Given the description of an element on the screen output the (x, y) to click on. 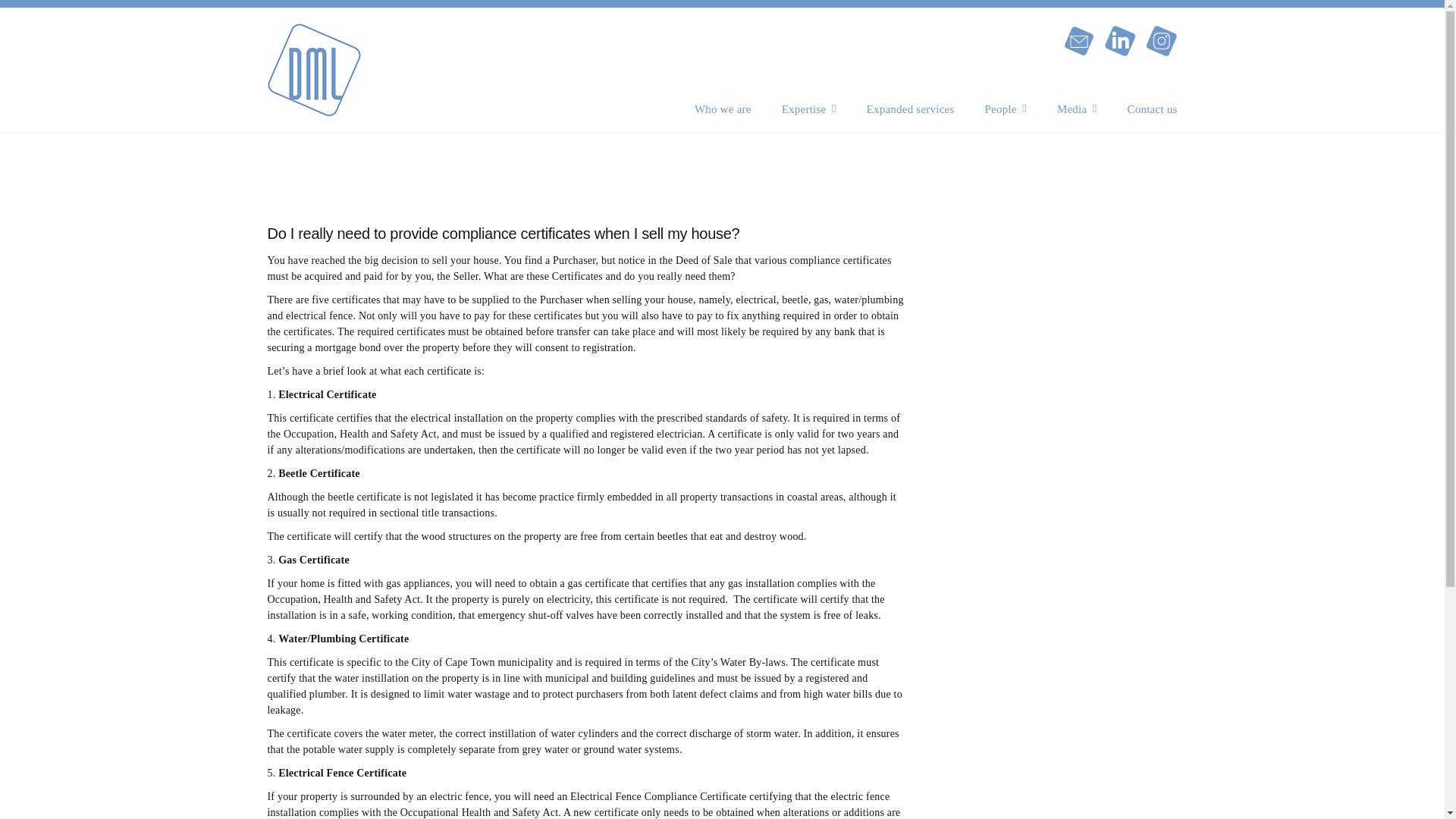
People (1005, 108)
Media (1077, 108)
Contact us (1151, 108)
Expanded services (910, 108)
Who we are (722, 108)
Expertise (808, 108)
